Given the description of an element on the screen output the (x, y) to click on. 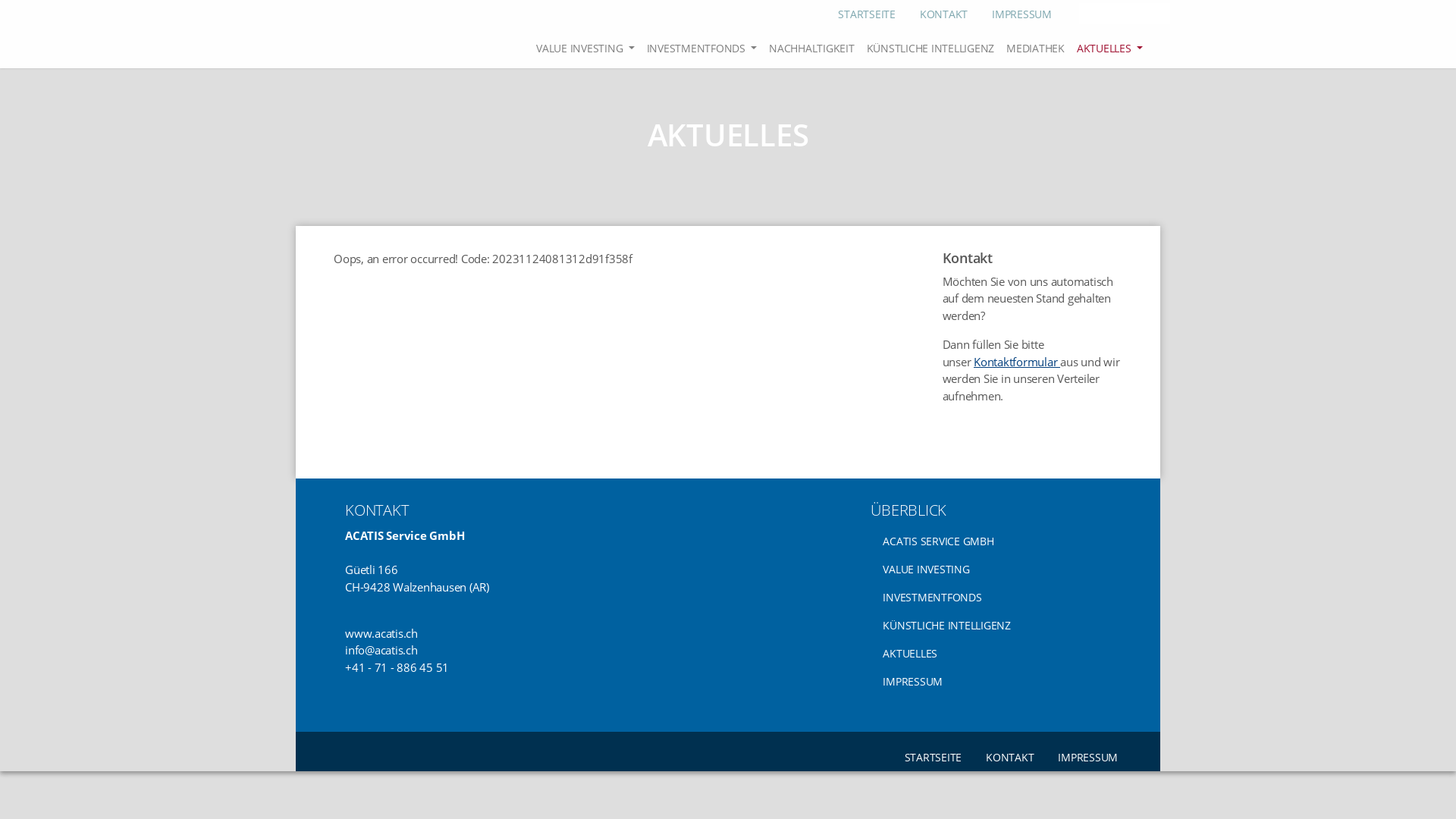
English Element type: text (1121, 13)
MEDIATHEK Element type: text (1035, 48)
Kontaktformular Element type: text (1016, 361)
ACATIS SERVICE GMBH Element type: text (990, 541)
STARTSEITE Element type: text (932, 757)
INVESTMENTFONDS Element type: text (701, 48)
www.acatis.ch Element type: text (381, 632)
IMPRESSUM Element type: text (990, 681)
IMPRESSUM Element type: text (1021, 14)
STARTSEITE Element type: text (866, 14)
KONTAKT Element type: text (1009, 757)
AKTUELLES Element type: text (990, 653)
KONTAKT Element type: text (943, 14)
IMPRESSUM Element type: text (1087, 757)
NACHHALTIGKEIT Element type: text (811, 48)
Languages Element type: text (1107, 13)
VALUE INVESTING Element type: text (990, 569)
AKTUELLES Element type: text (1109, 48)
INVESTMENTFONDS Element type: text (990, 597)
VALUE INVESTING Element type: text (585, 48)
